Given the description of an element on the screen output the (x, y) to click on. 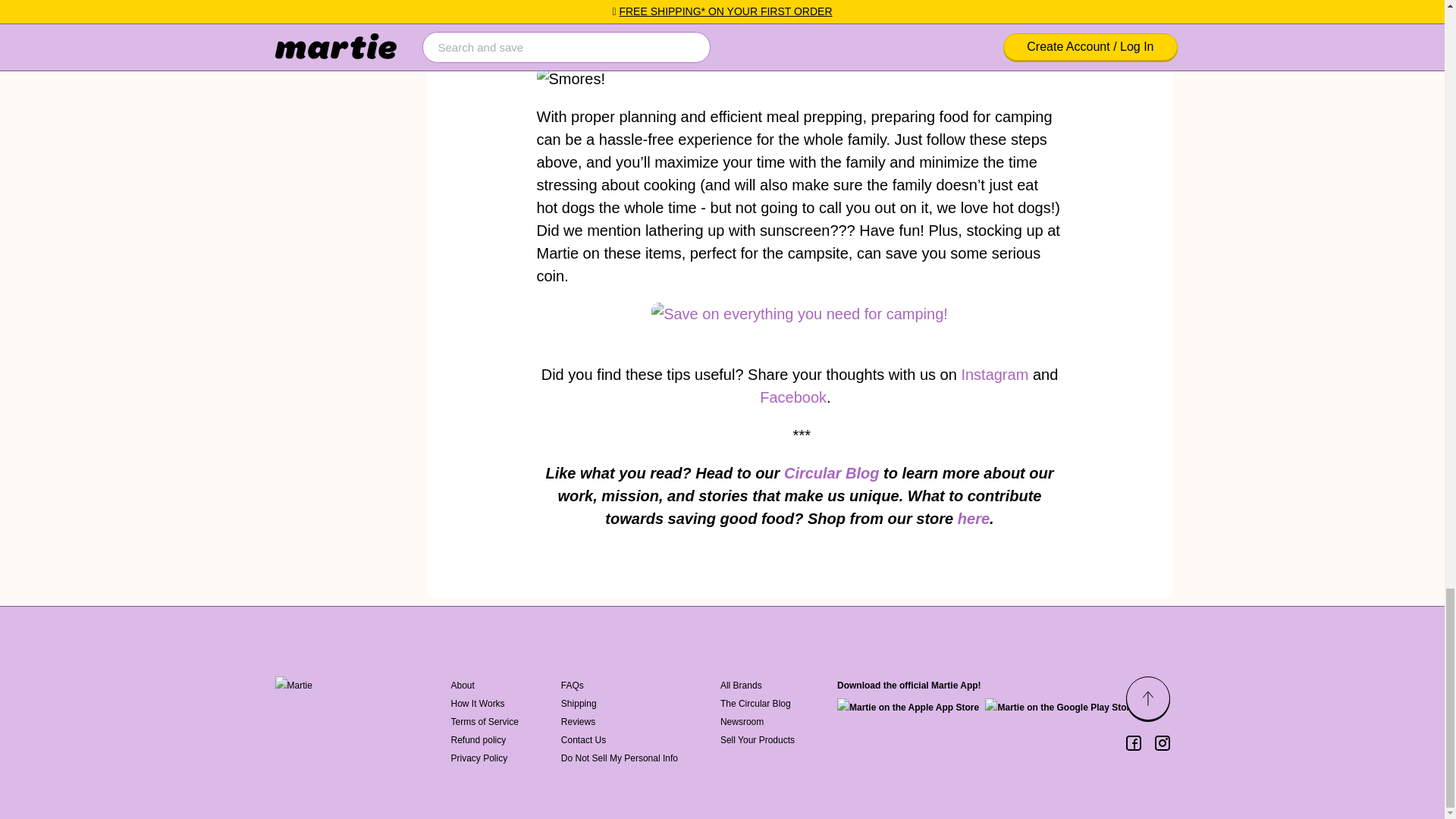
Martie on Facebook (1132, 743)
Martie on Instagram (1161, 743)
Save on camping supplies at Martie (798, 313)
